Given the description of an element on the screen output the (x, y) to click on. 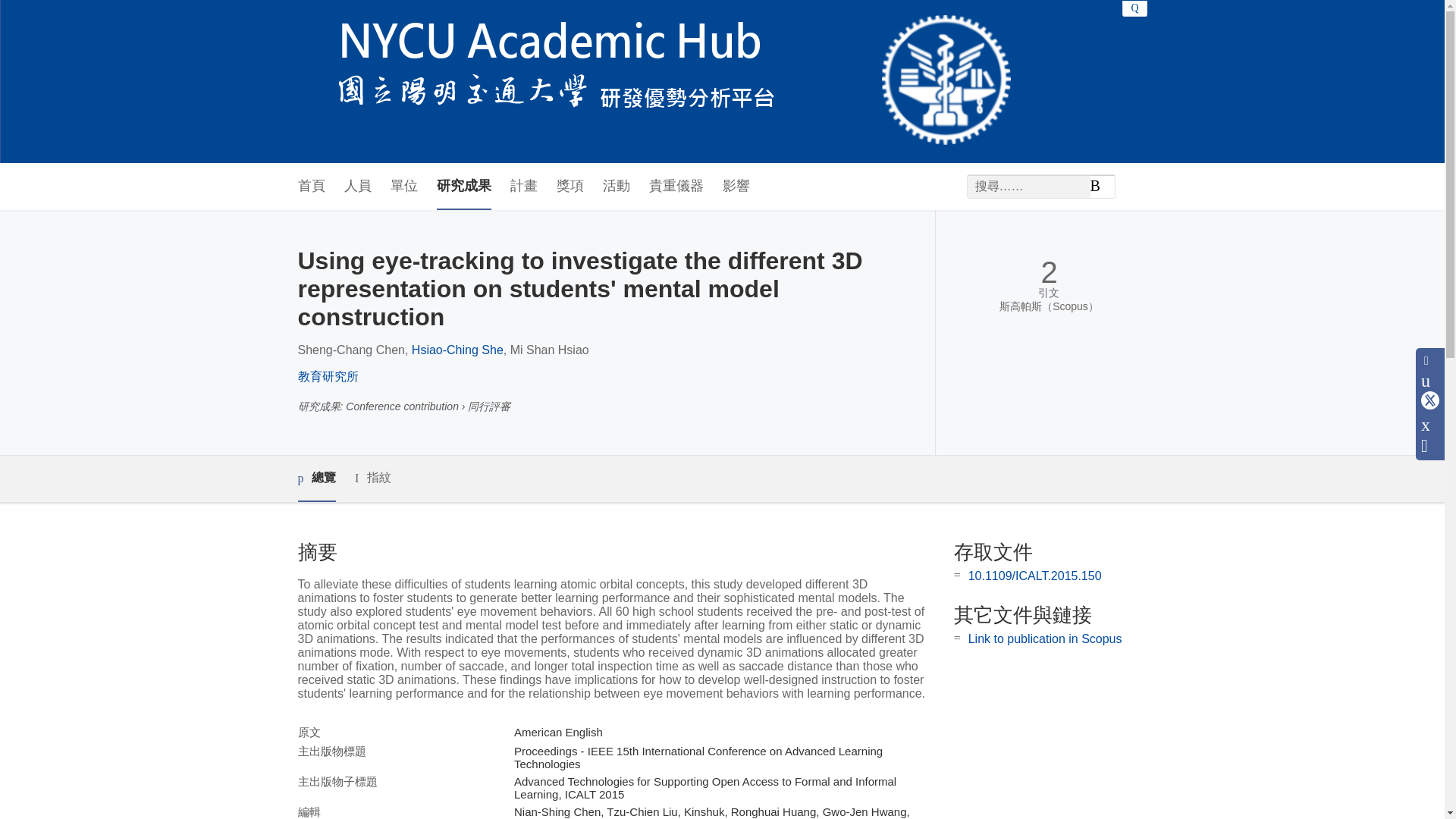
Hsiao-Ching She (457, 349)
Link to publication in Scopus (1045, 638)
